Given the description of an element on the screen output the (x, y) to click on. 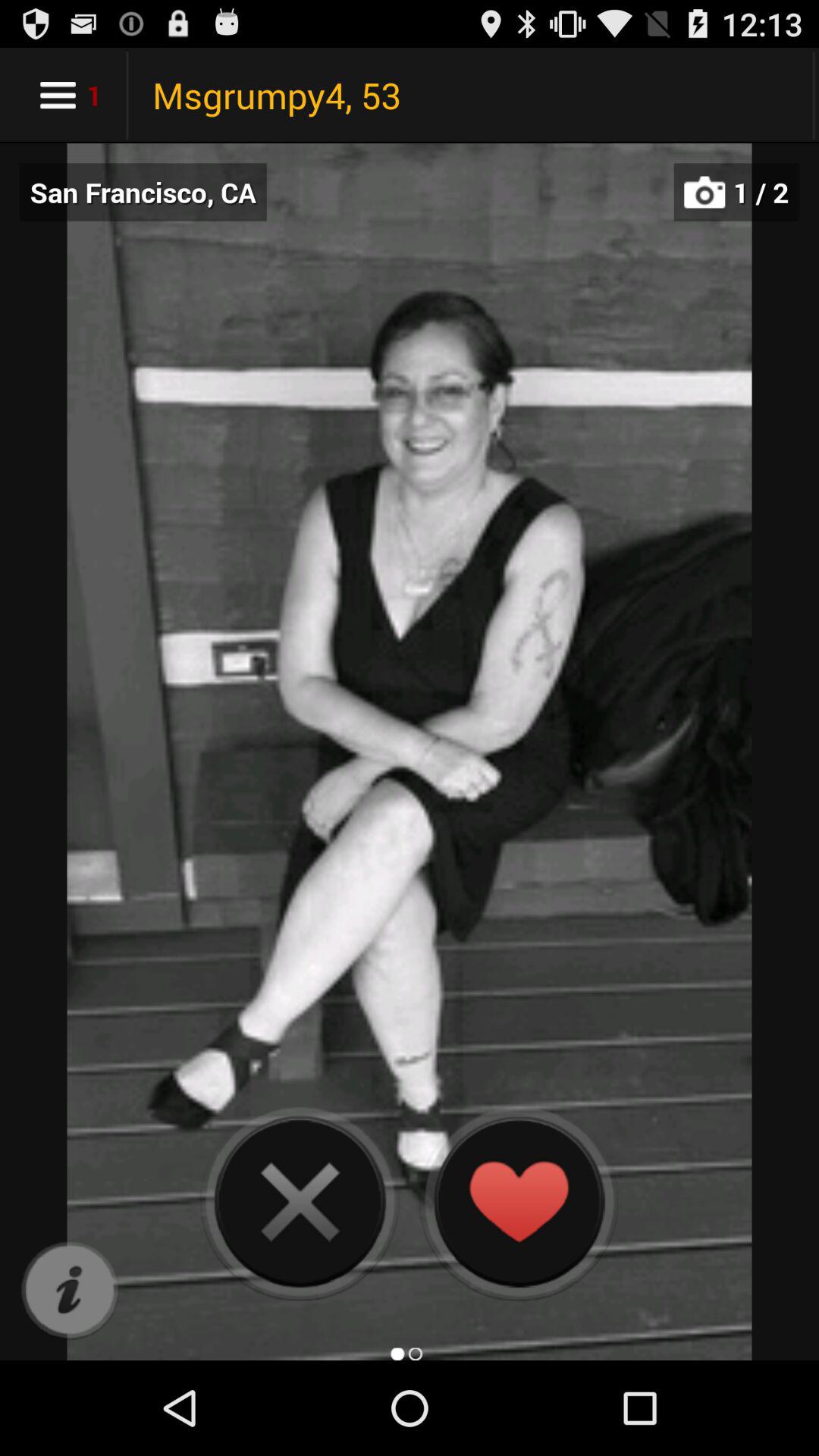
more information (69, 1290)
